Given the description of an element on the screen output the (x, y) to click on. 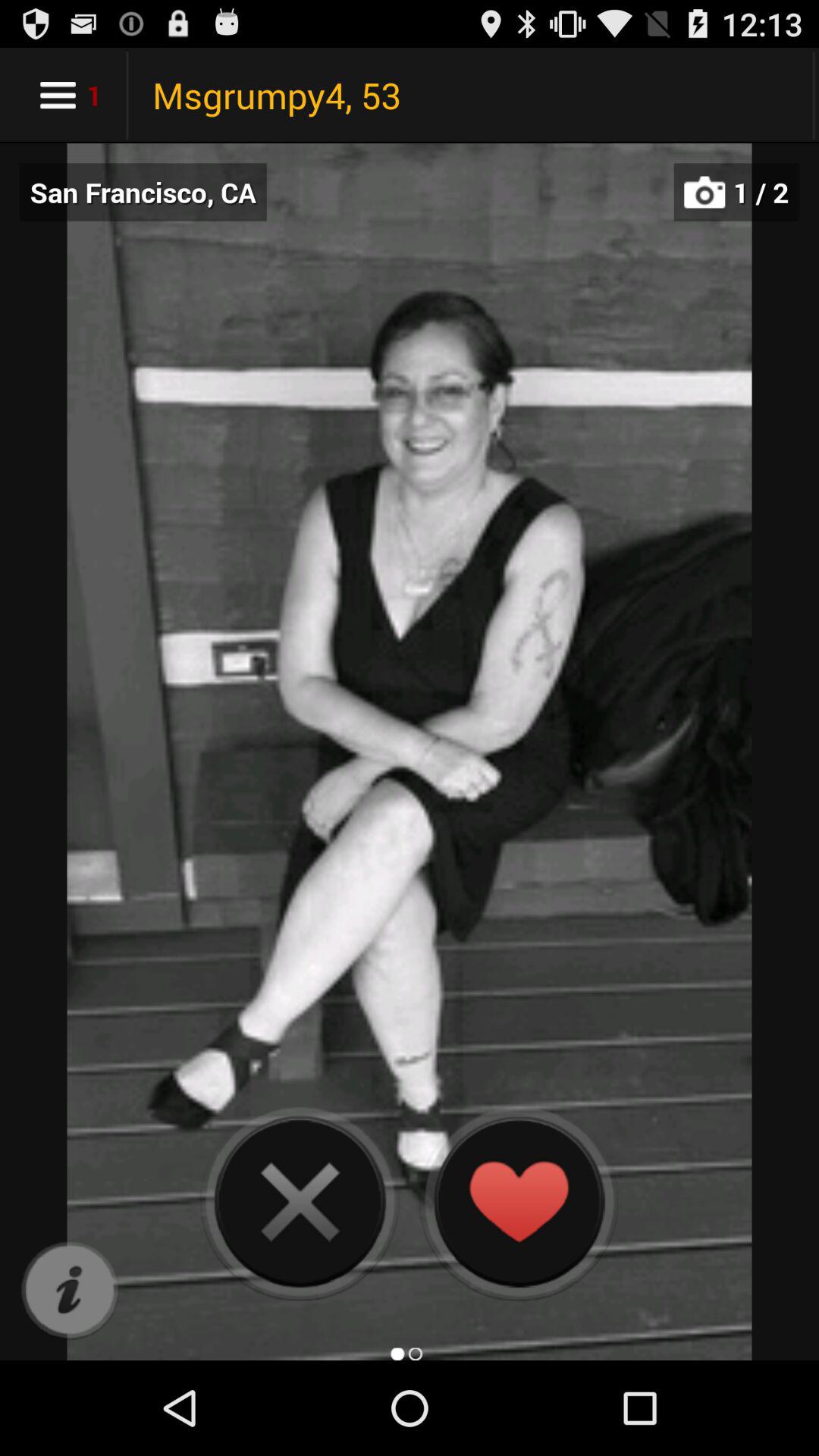
more information (69, 1290)
